Given the description of an element on the screen output the (x, y) to click on. 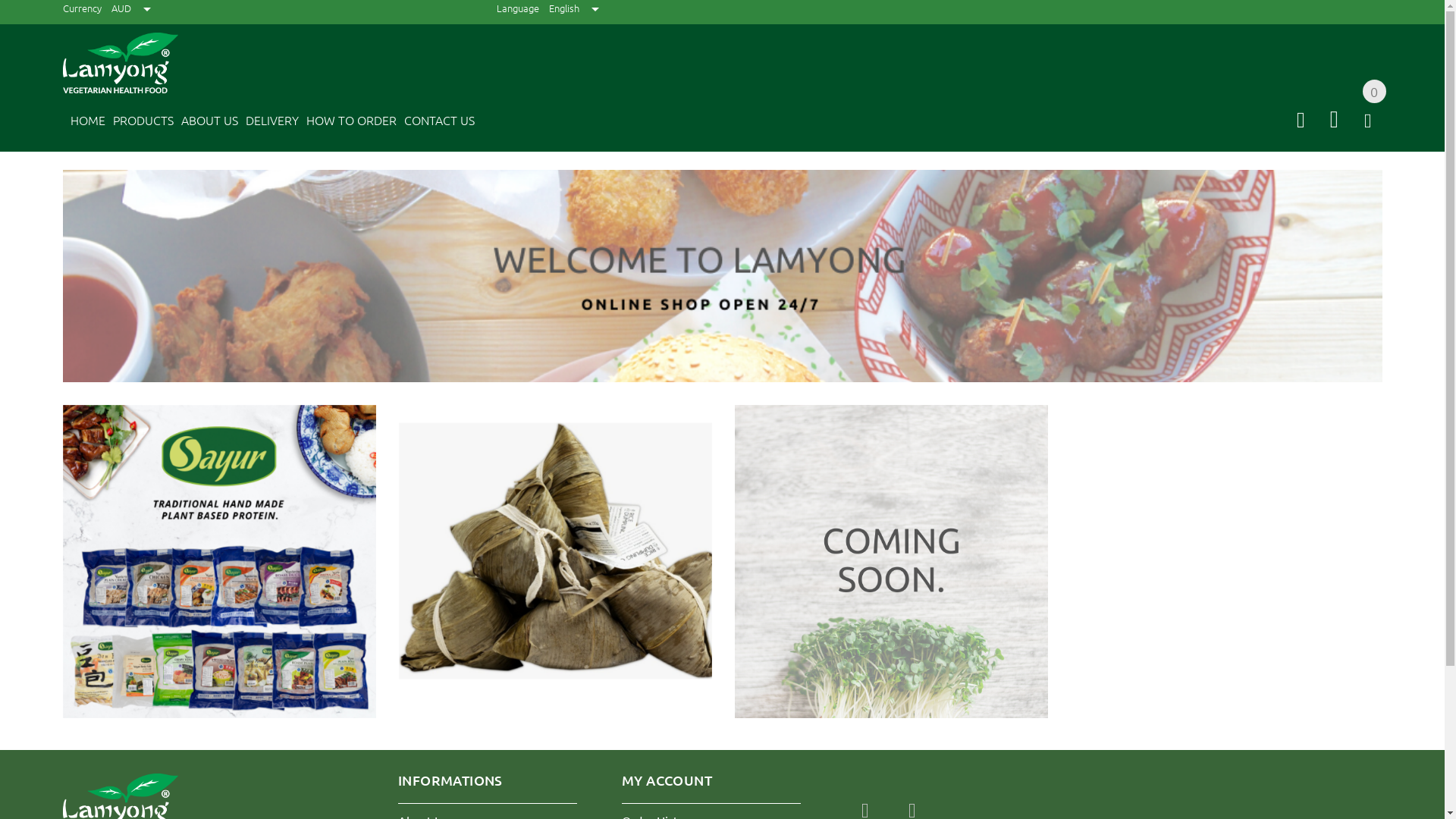
CONTACT US Element type: text (434, 122)
HOME Element type: text (83, 122)
AUD Element type: text (130, 7)
HOW TO ORDER Element type: text (347, 122)
English Element type: text (574, 7)
PRODUCTS Element type: text (138, 122)
ABOUT US Element type: text (204, 122)
DELIVERY Element type: text (268, 122)
0 Element type: text (1367, 121)
